Given the description of an element on the screen output the (x, y) to click on. 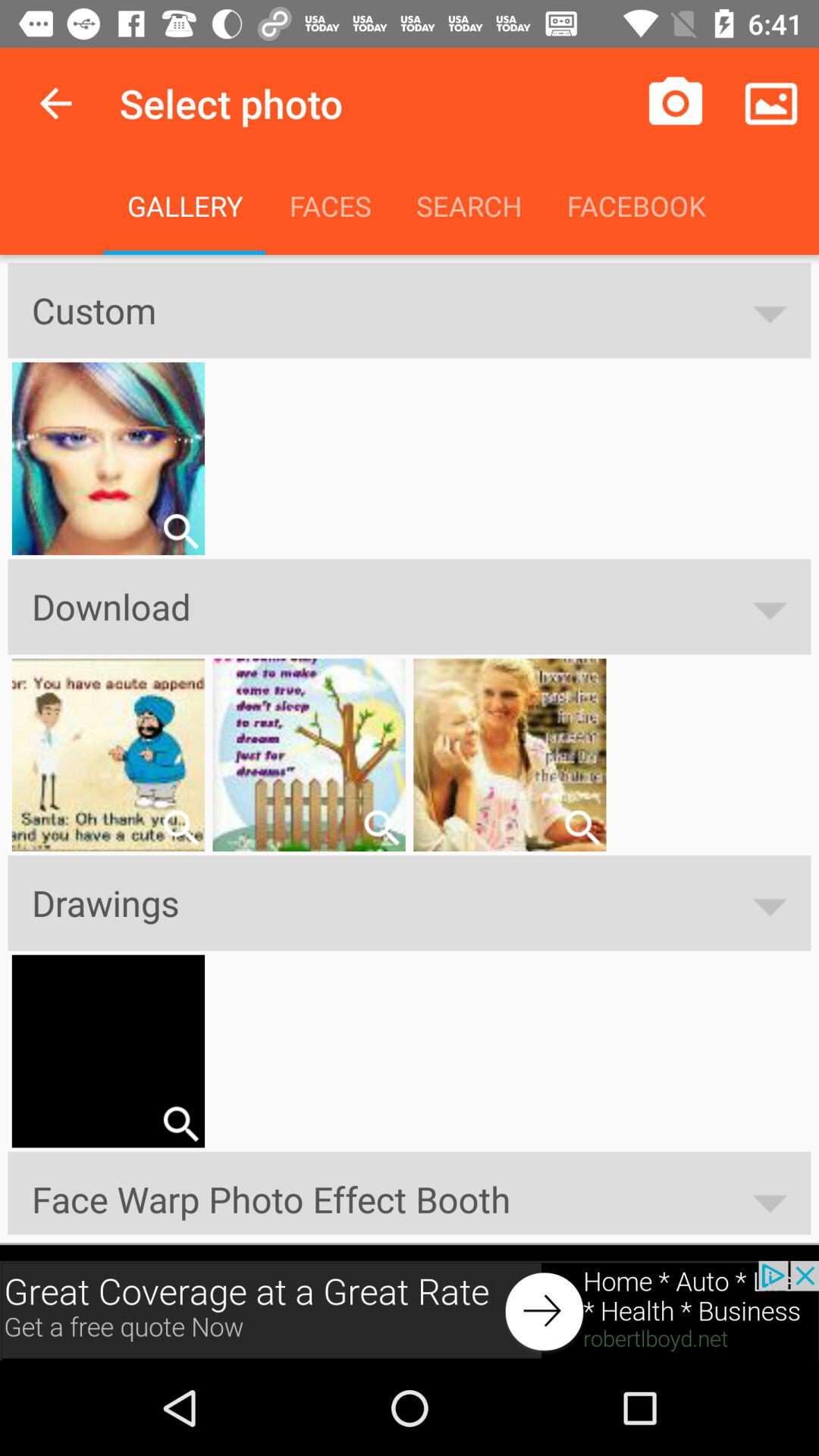
magnify (582, 827)
